Given the description of an element on the screen output the (x, y) to click on. 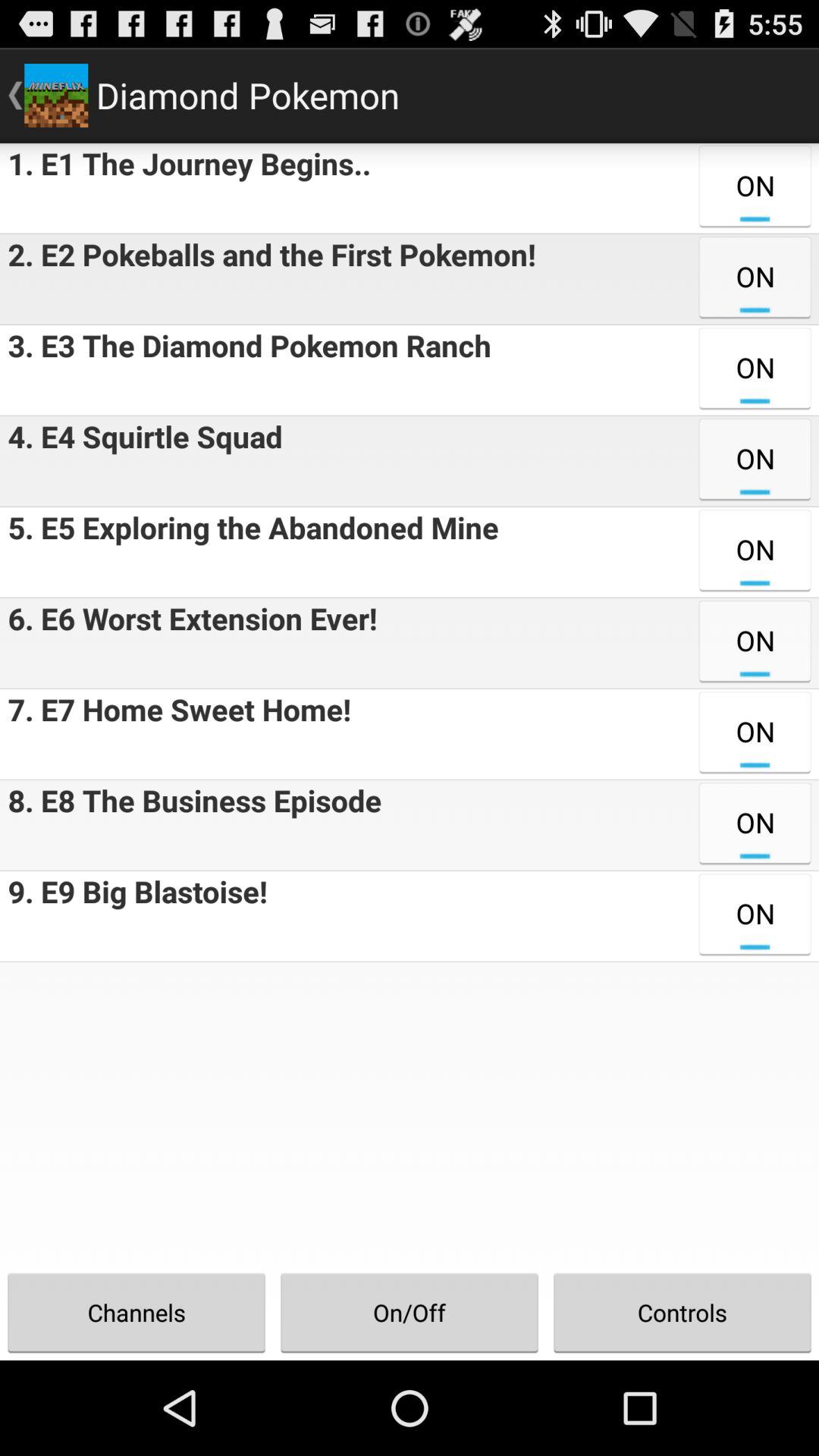
flip to 7 e7 home app (175, 734)
